Given the description of an element on the screen output the (x, y) to click on. 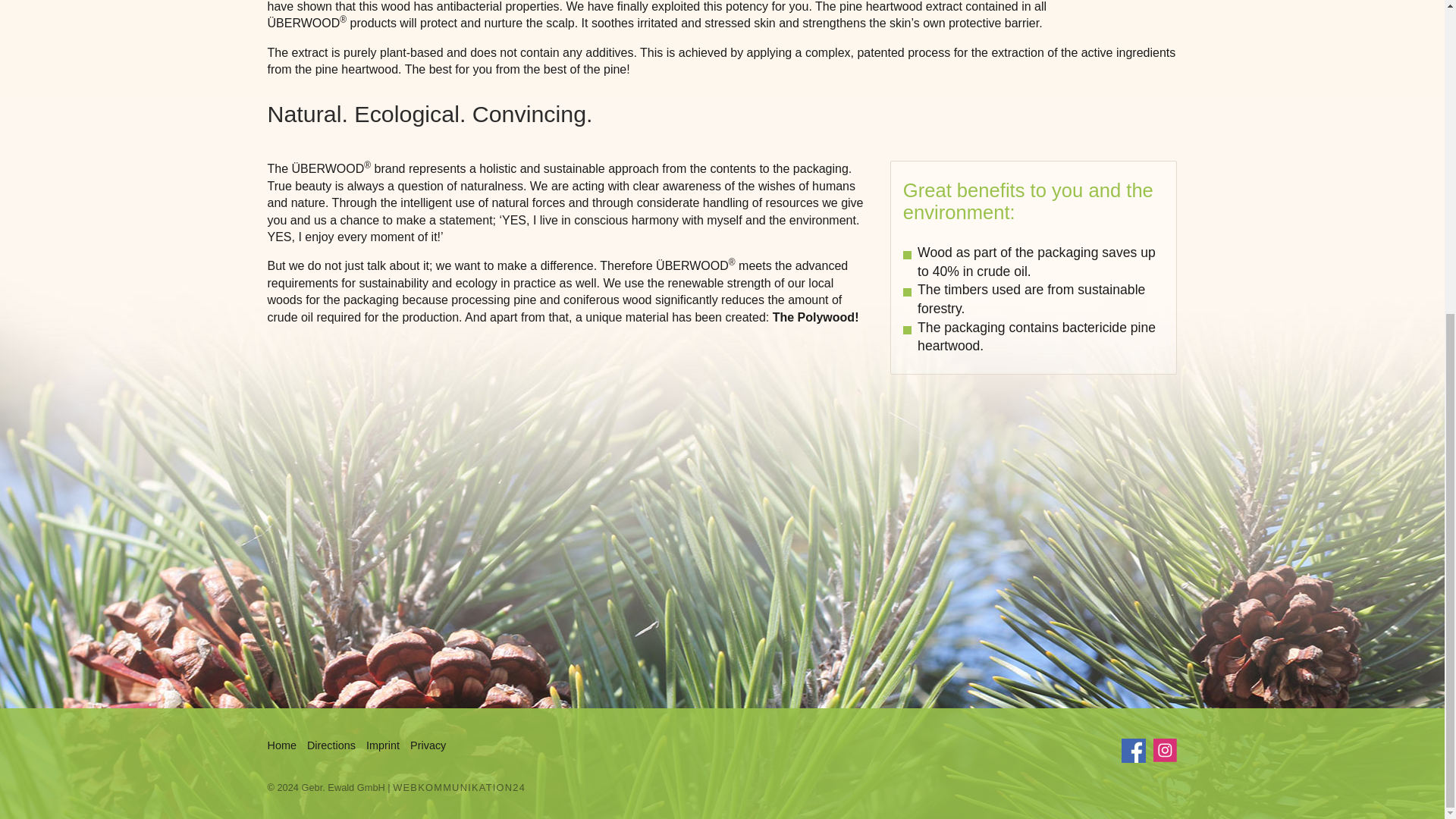
Home (280, 745)
Directions (331, 745)
WEBKOMMUNIKATION24 (459, 787)
Privacy (427, 745)
Imprint (382, 745)
